Given the description of an element on the screen output the (x, y) to click on. 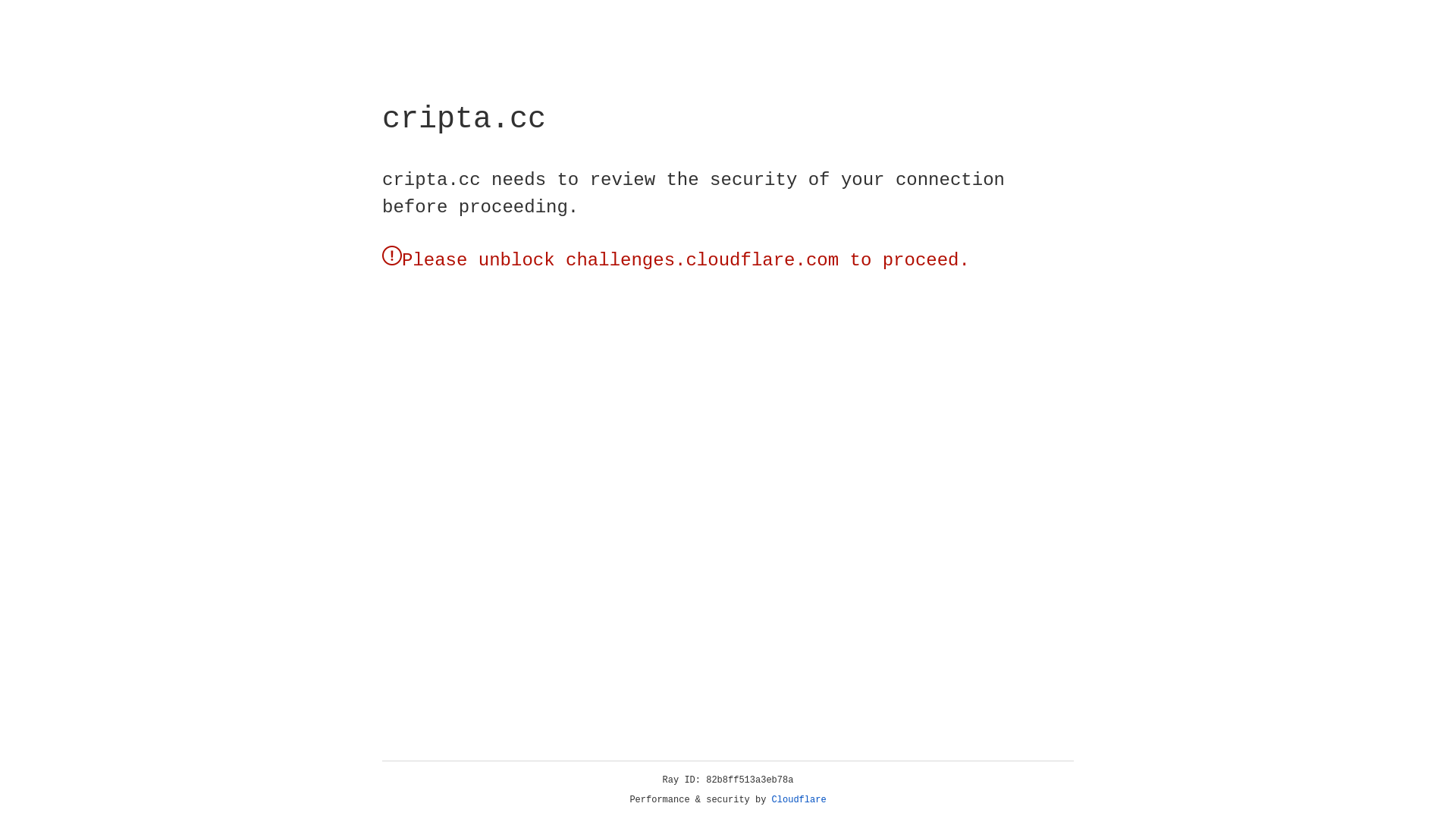
Cloudflare Element type: text (798, 799)
